Given the description of an element on the screen output the (x, y) to click on. 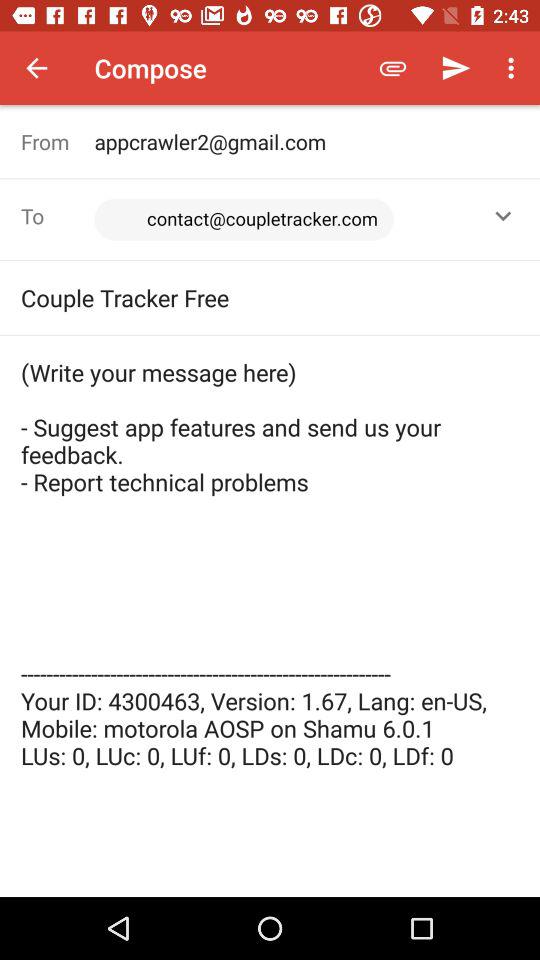
jump until from (57, 141)
